Given the description of an element on the screen output the (x, y) to click on. 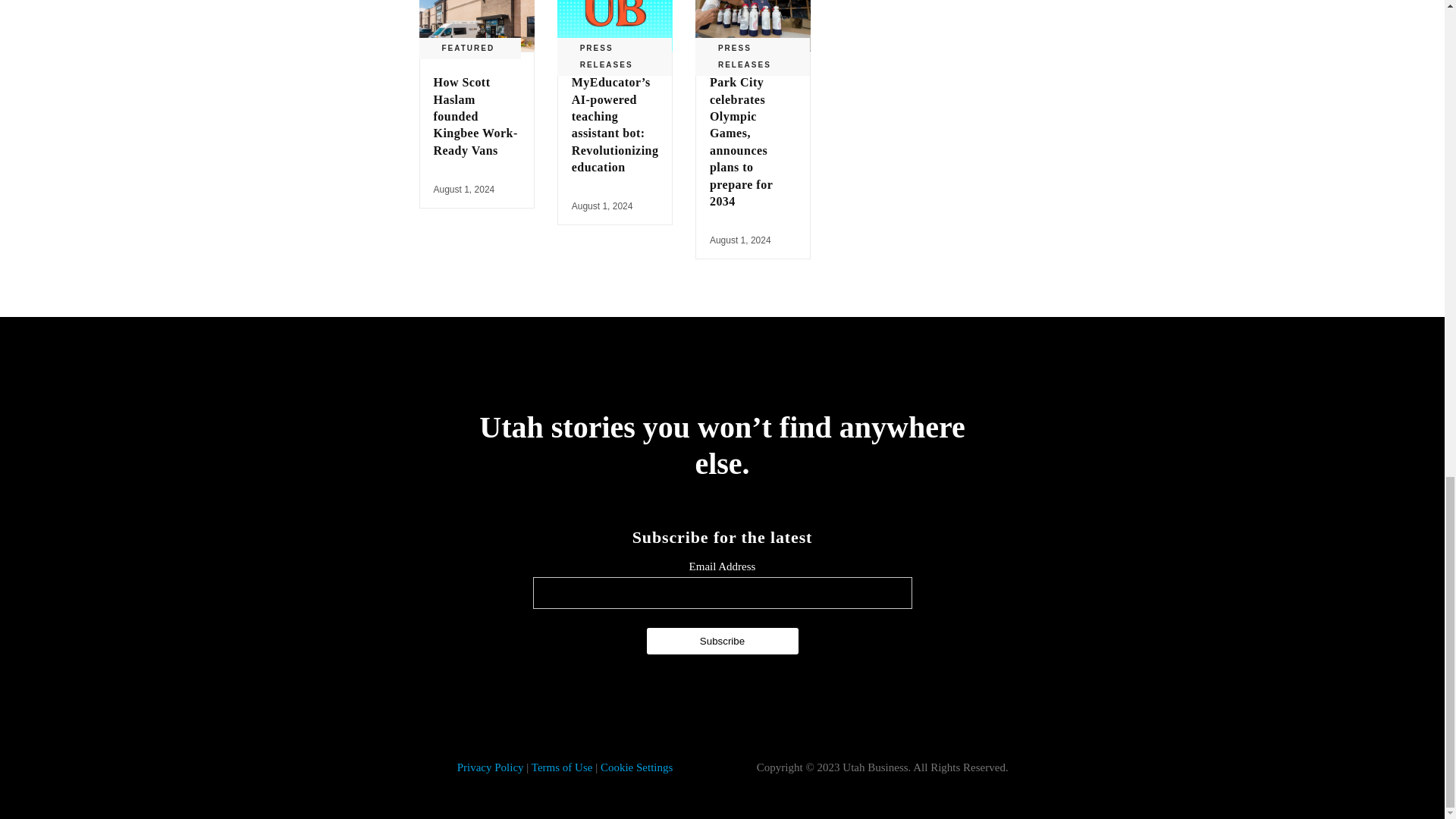
How Scott Haslam founded Kingbee Work-Ready Vans (476, 25)
Subscribe (721, 641)
FEATURED (468, 48)
How Scott Haslam founded Kingbee Work-Ready Vans (475, 116)
